Given the description of an element on the screen output the (x, y) to click on. 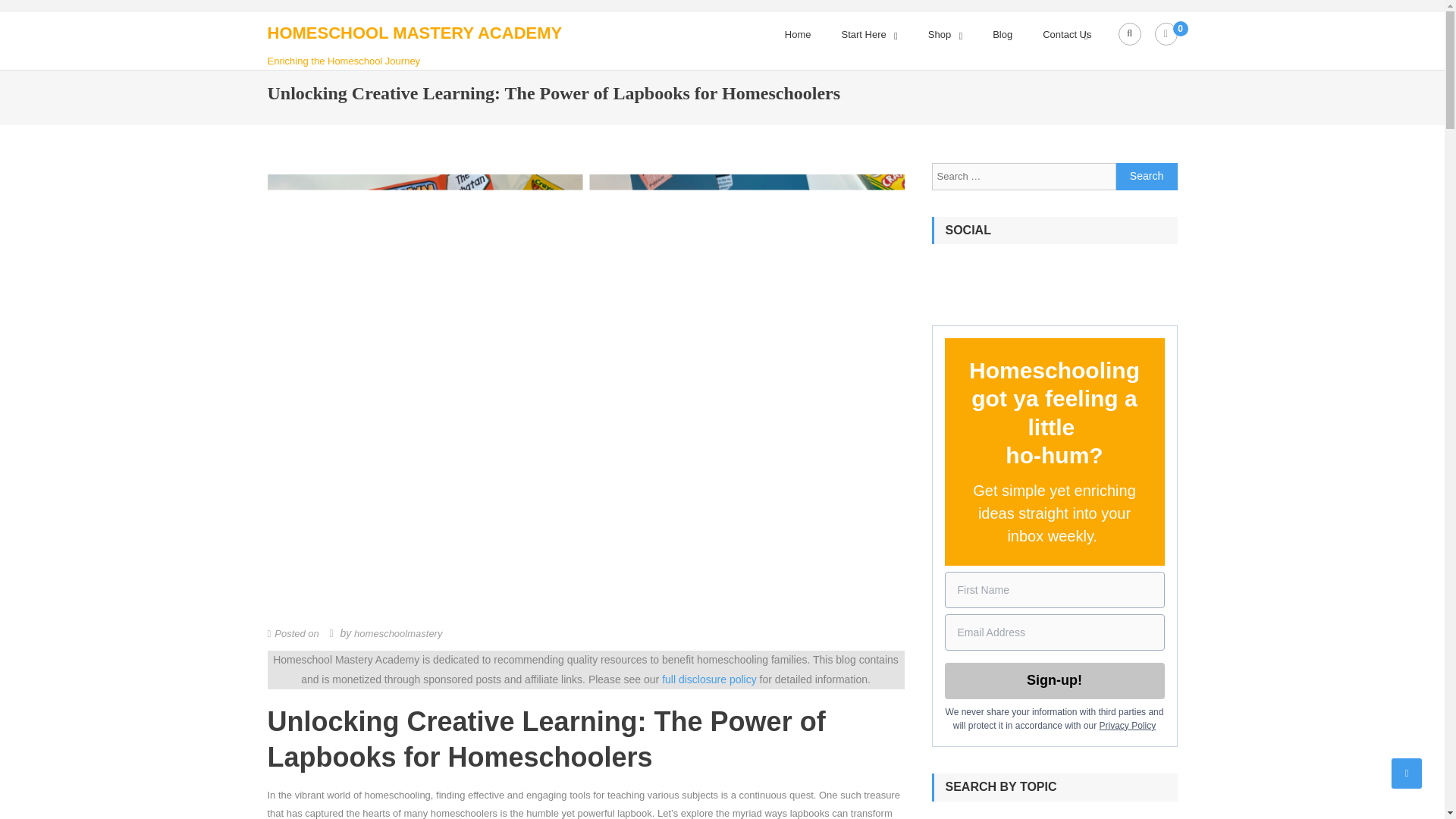
Blog (1001, 34)
homeschoolmastery (397, 633)
Shop (939, 34)
HOMESCHOOL MASTERY ACADEMY (414, 32)
Search (1146, 176)
0 (1165, 33)
Home (798, 34)
Search (1146, 176)
full disclosure policy (709, 679)
Start Here (864, 34)
